Given the description of an element on the screen output the (x, y) to click on. 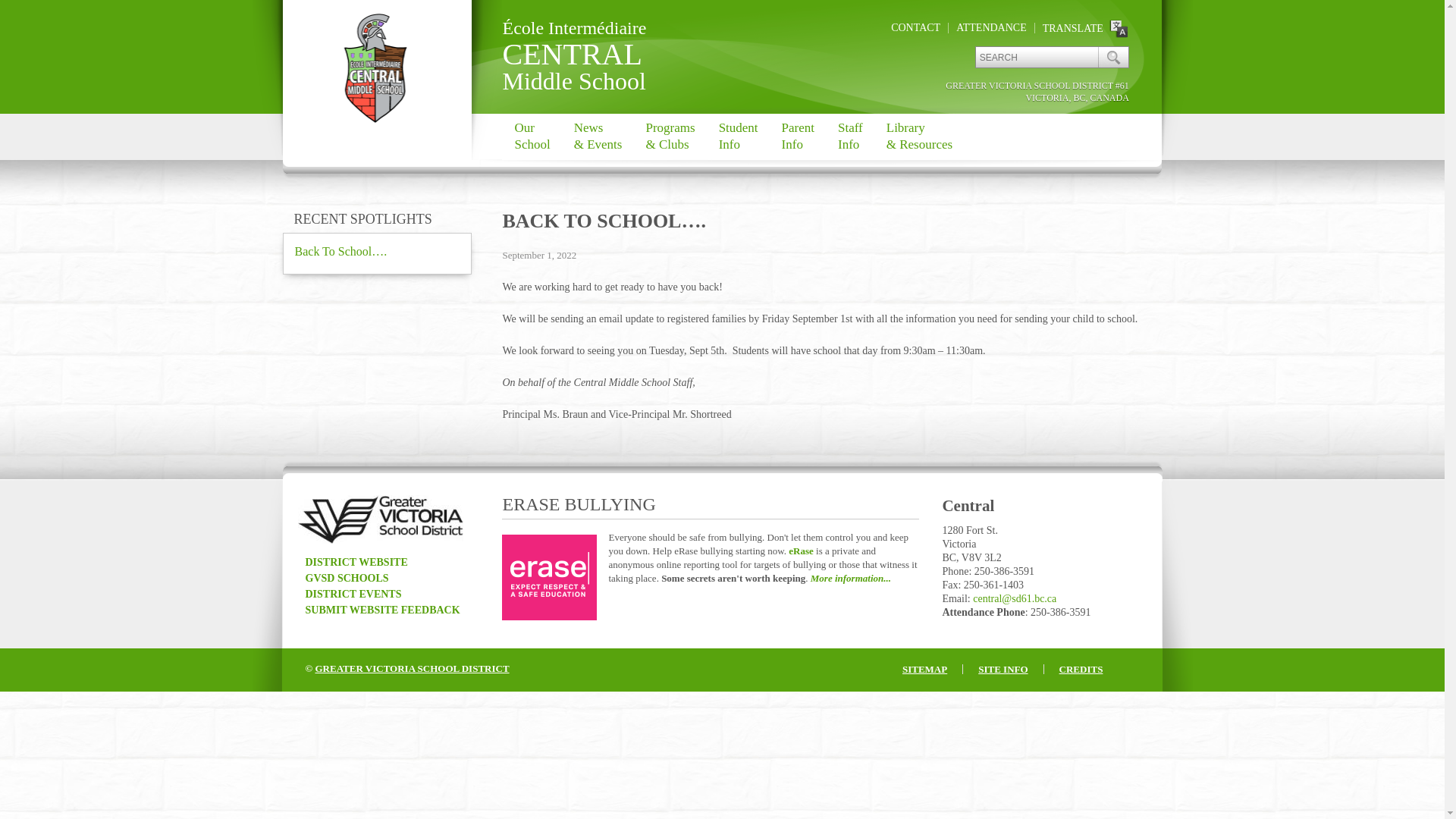
CONTACT (915, 27)
ATTENDANCE (738, 136)
